Given the description of an element on the screen output the (x, y) to click on. 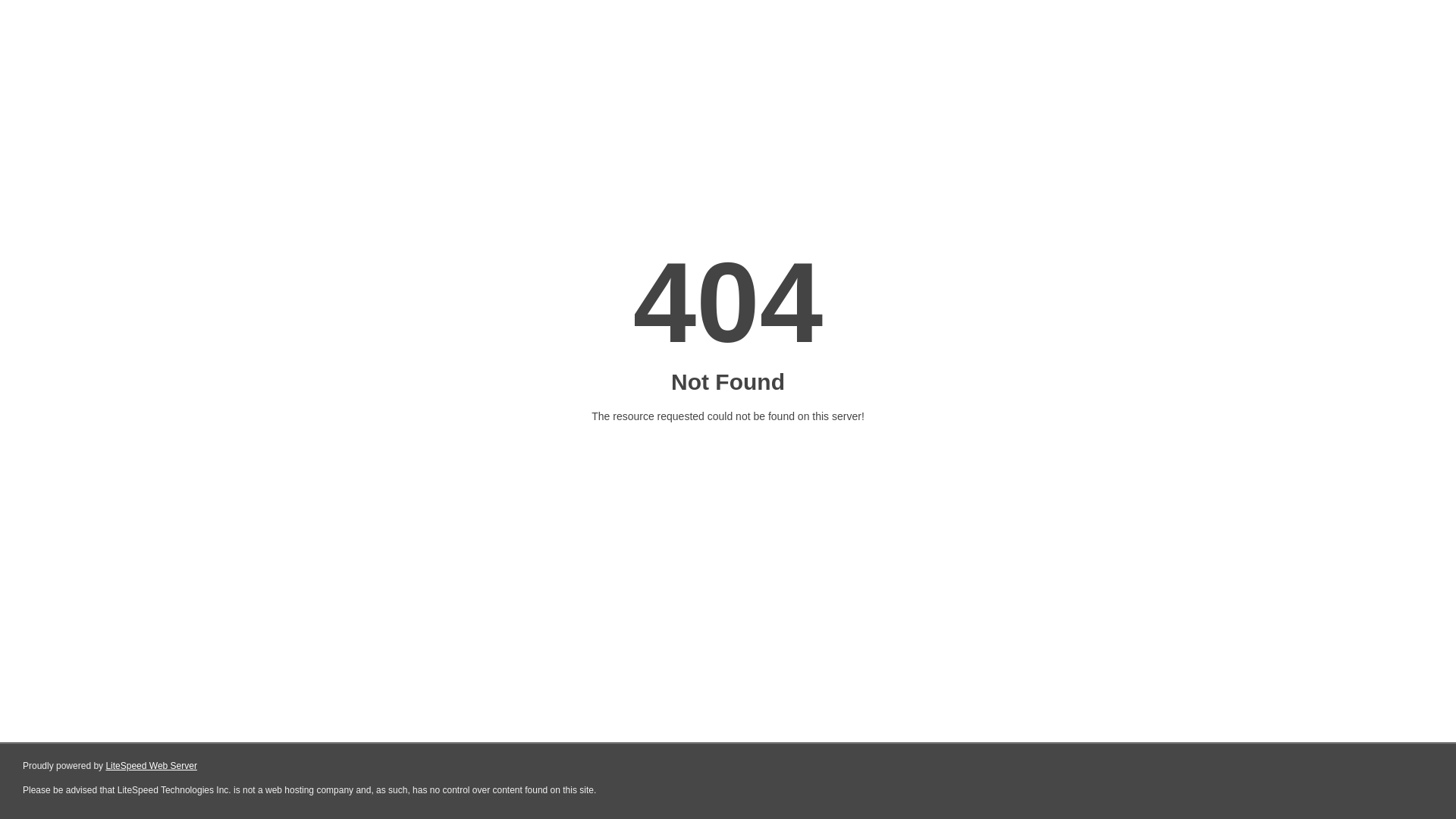
LiteSpeed Web Server Element type: text (151, 765)
